Given the description of an element on the screen output the (x, y) to click on. 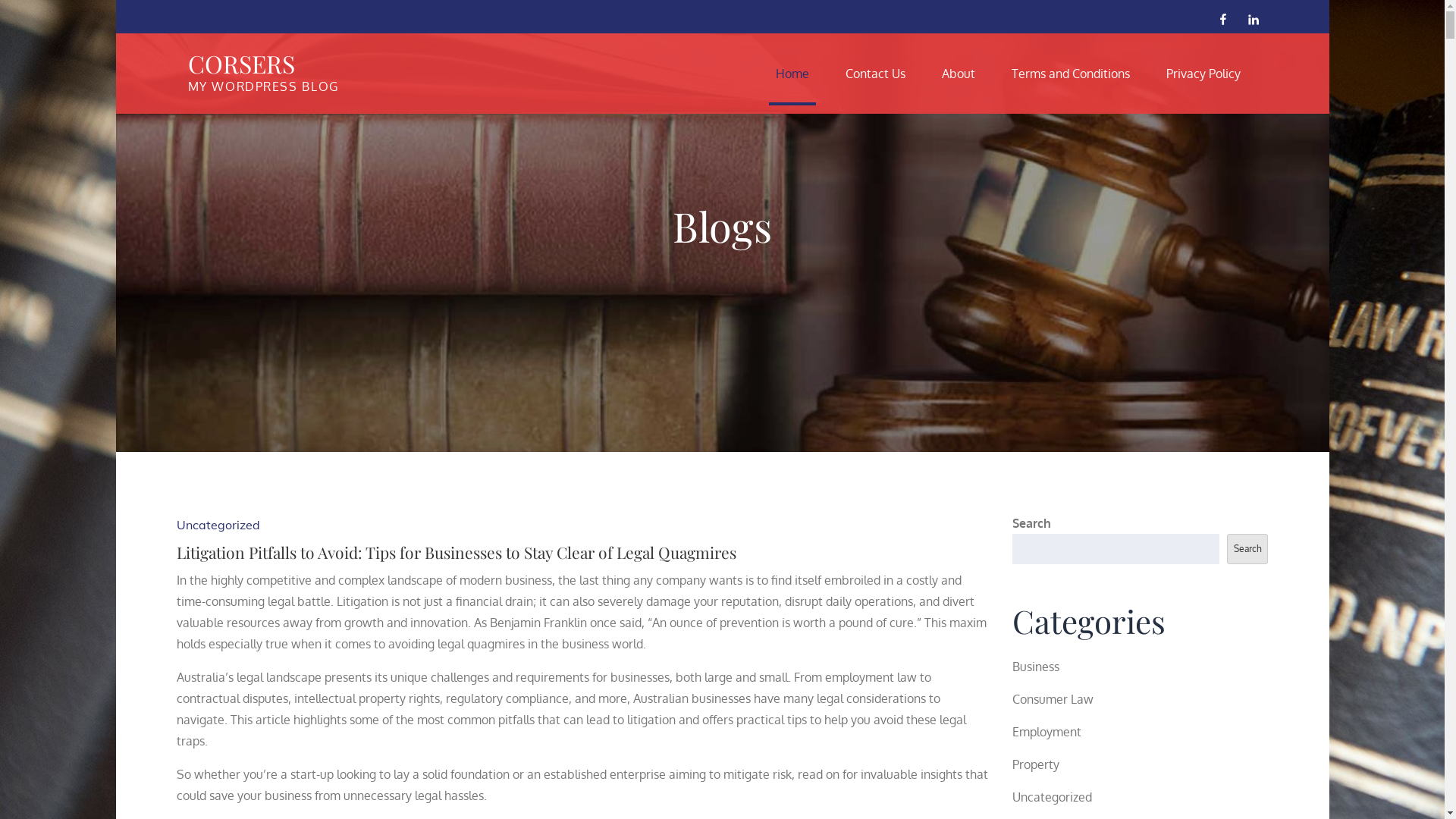
CORSERS Element type: text (241, 63)
linkedin Element type: text (1252, 18)
Property Element type: text (1035, 763)
Home Element type: text (791, 73)
Terms and Conditions Element type: text (1070, 73)
facebook Element type: text (1222, 18)
Uncategorized Element type: text (217, 524)
Privacy Policy Element type: text (1203, 73)
Contact Us Element type: text (874, 73)
Employment Element type: text (1046, 731)
About Element type: text (958, 73)
Consumer Law Element type: text (1052, 698)
Search Element type: text (1246, 548)
Uncategorized Element type: text (1052, 796)
Business Element type: text (1035, 666)
